Given the description of an element on the screen output the (x, y) to click on. 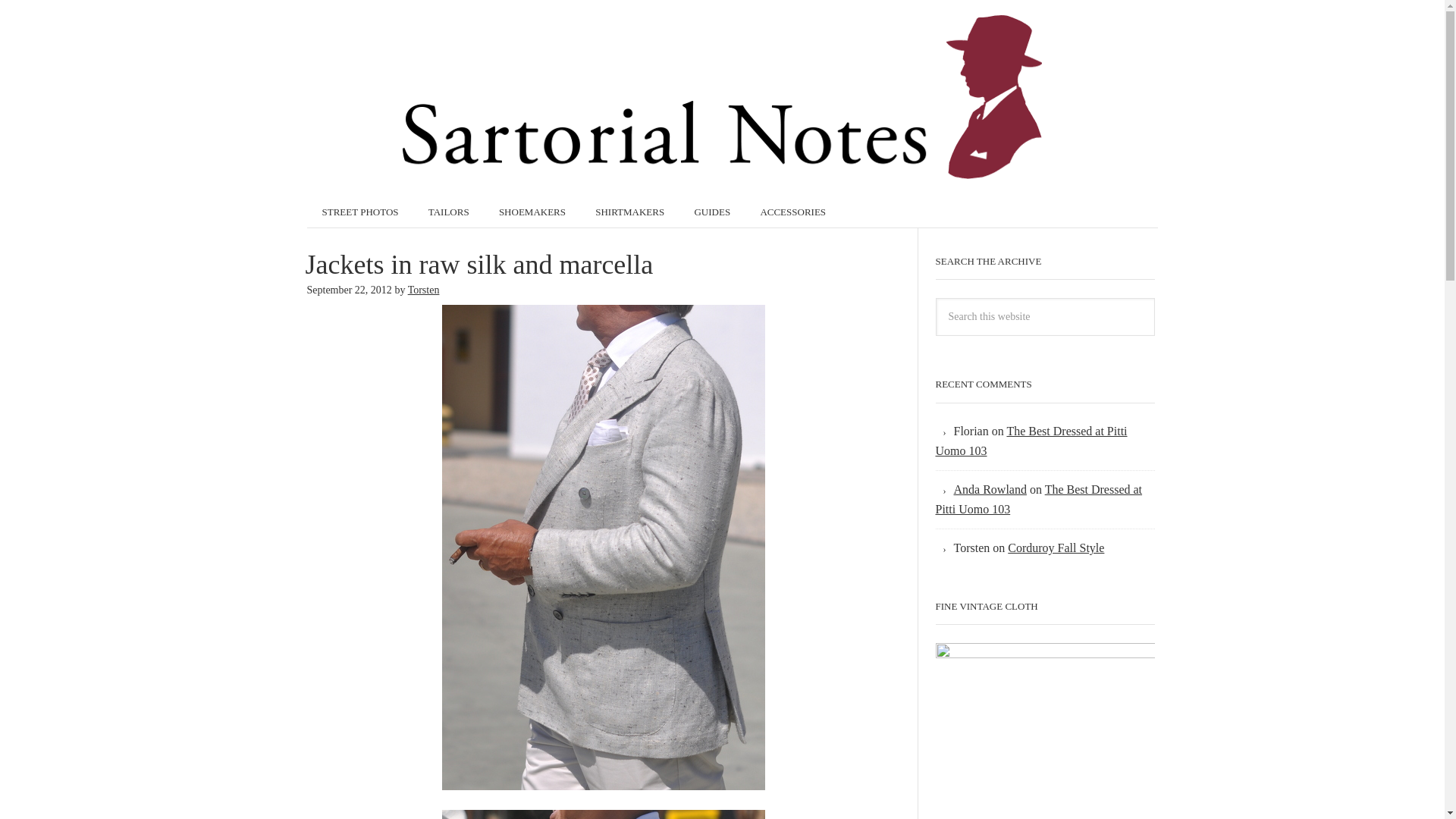
SHOEMAKERS (531, 212)
The Best Dressed at Pitti Uomo 103 (1039, 499)
Summer-db-jacket-The-Journal-of-Style-Pitti-2 (603, 814)
SHIRTMAKERS (629, 212)
The Best Dressed at Pitti Uomo 103 (1031, 441)
STREET PHOTOS (359, 212)
Torsten (423, 288)
TAILORS (448, 212)
Corduroy Fall Style (1055, 547)
GUIDES (711, 212)
ACCESSORIES (792, 212)
